Given the description of an element on the screen output the (x, y) to click on. 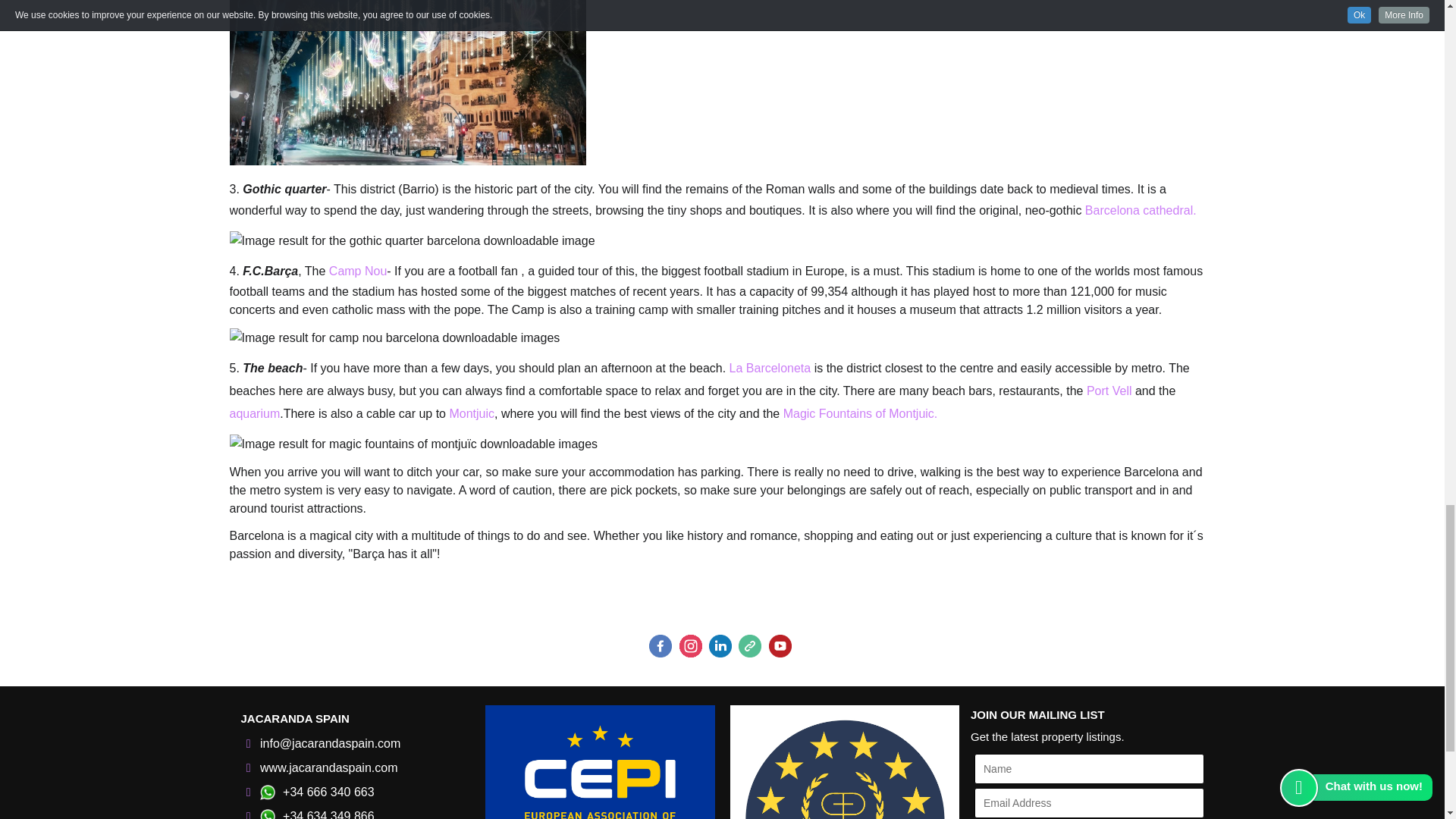
Contact us on WhatsApp (267, 792)
GEPI (844, 762)
CEPI (599, 762)
Contact us on WhatsApp (267, 814)
